Given the description of an element on the screen output the (x, y) to click on. 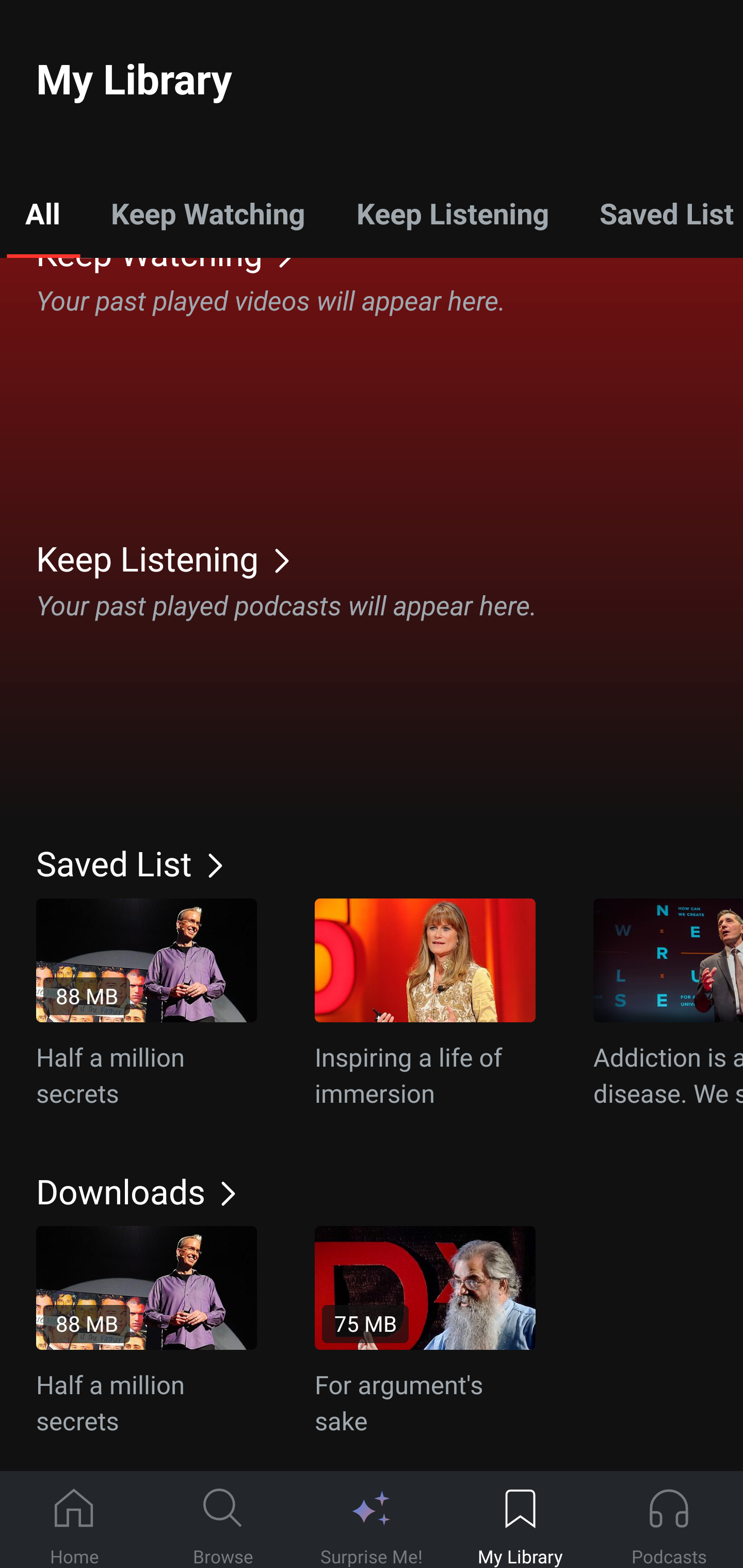
All (42, 212)
Keep Watching (207, 212)
Keep Listening (452, 212)
Saved List (658, 212)
Keep Listening (389, 558)
Saved List (389, 862)
88 MB Half a million secrets (146, 1004)
Inspiring a life of immersion (425, 1004)
Downloads (389, 1190)
88 MB Half a million secrets (146, 1331)
75 MB For argument's sake (425, 1331)
Home (74, 1520)
Browse (222, 1520)
Surprise Me! (371, 1520)
My Library (519, 1520)
Podcasts (668, 1520)
